Given the description of an element on the screen output the (x, y) to click on. 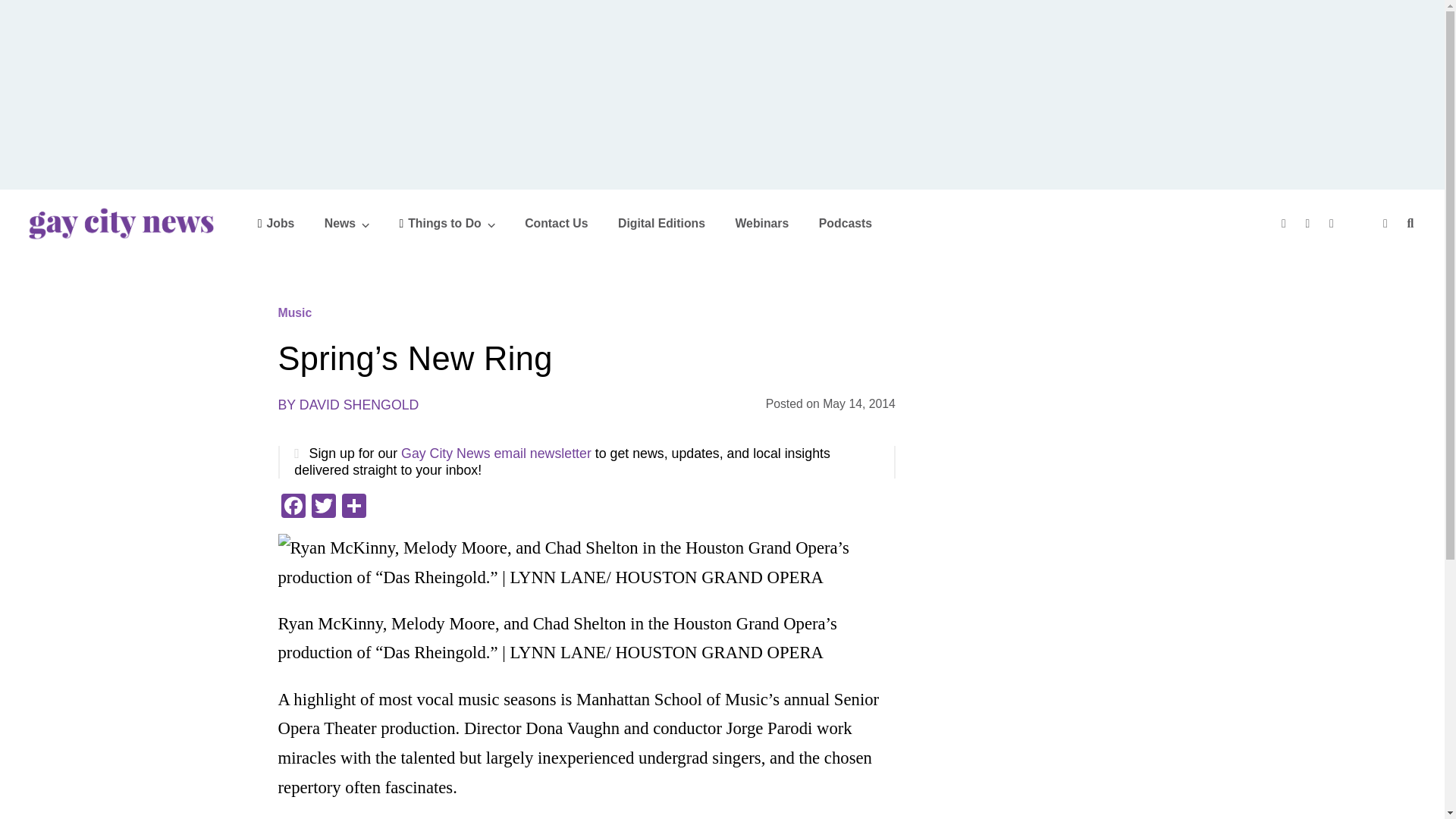
Webinars (762, 223)
Twitter (1310, 223)
Things to Do (446, 223)
Podcasts (845, 223)
News (346, 223)
Contact Us (556, 223)
Facebook (1285, 223)
Instagram (1333, 223)
Facebook (292, 507)
Digital Editions (660, 223)
Jobs (276, 223)
Twitter (322, 507)
